Given the description of an element on the screen output the (x, y) to click on. 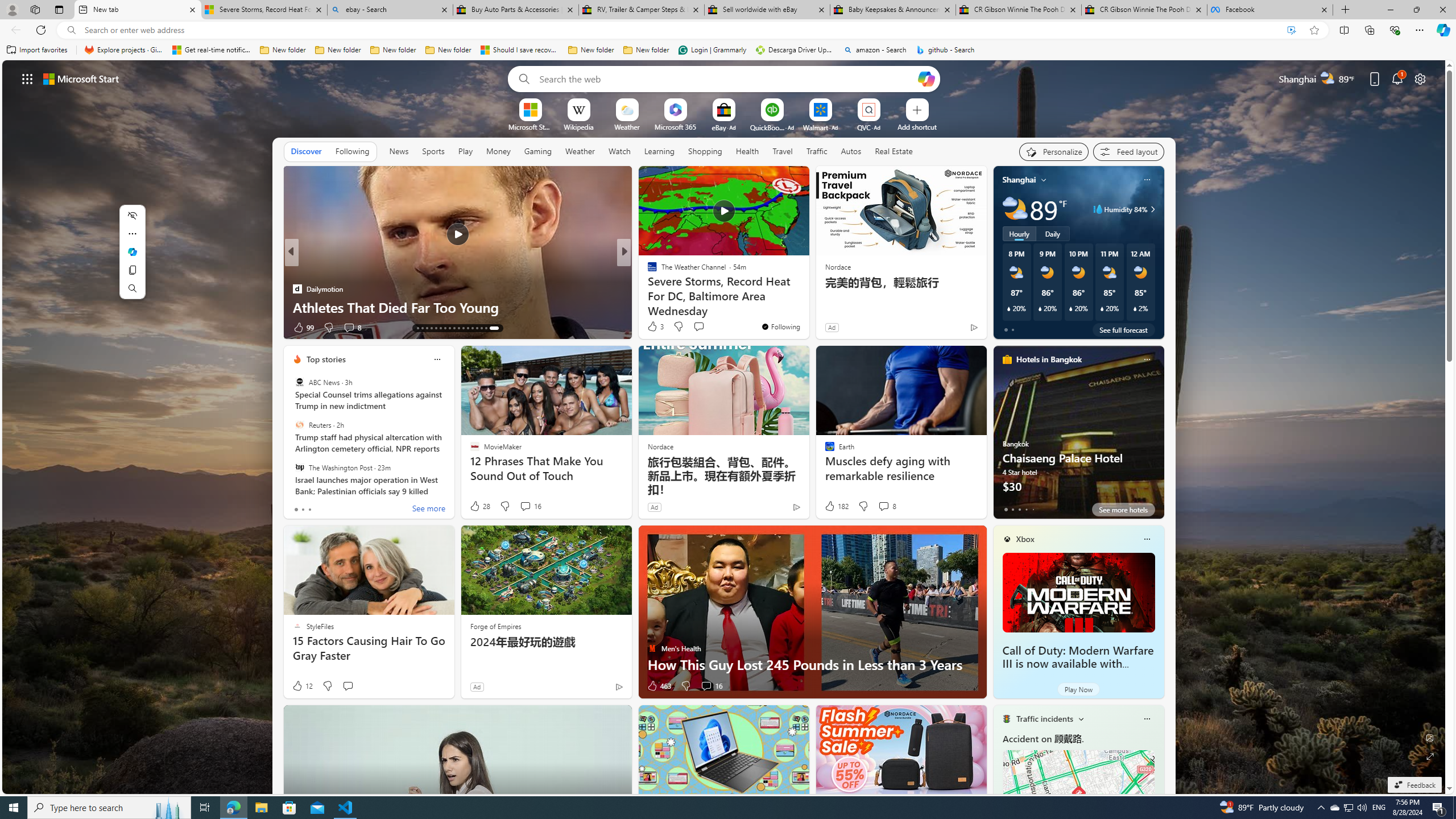
Search icon (70, 29)
